Given the description of an element on the screen output the (x, y) to click on. 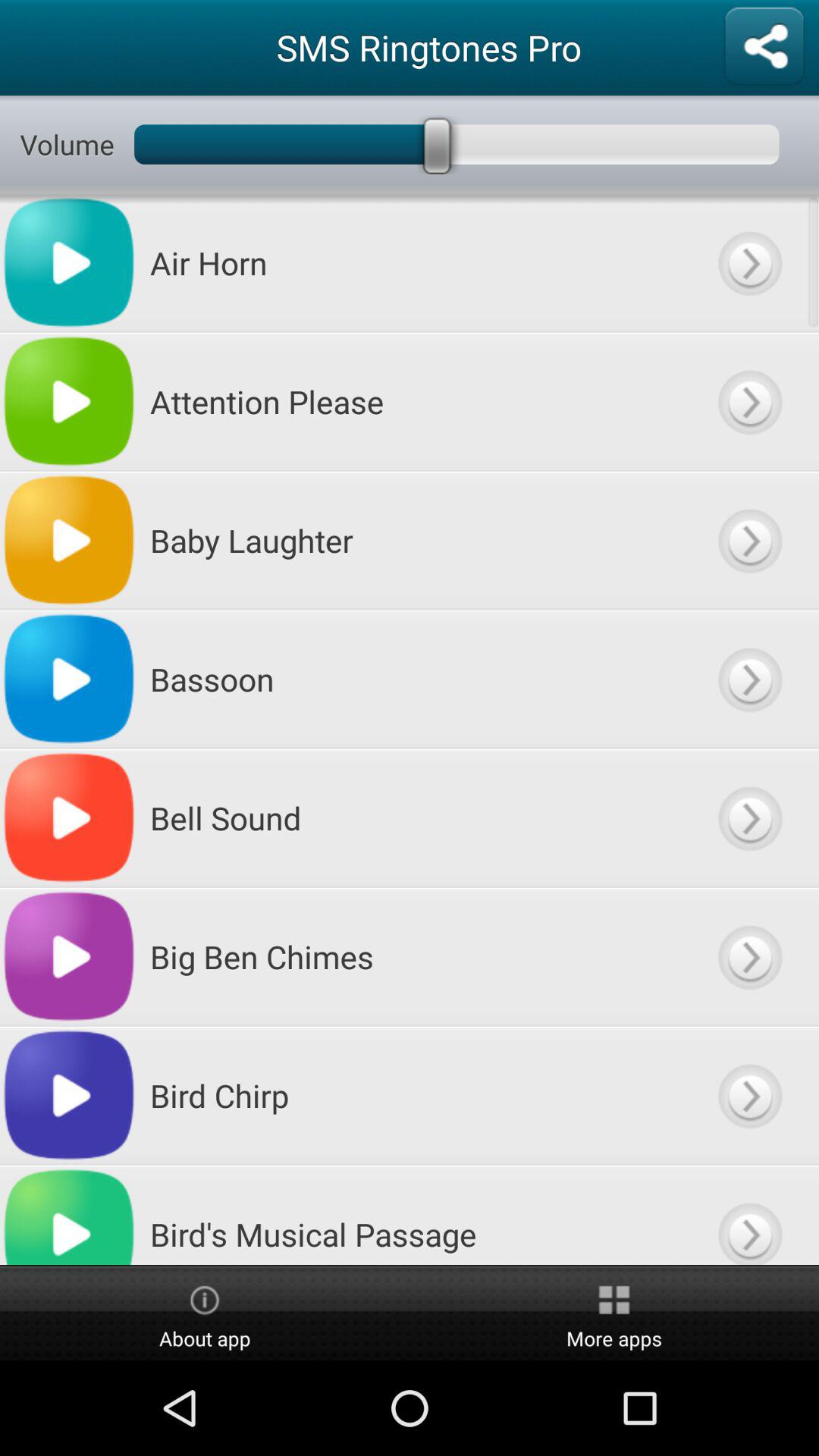
select attention please (749, 401)
